Given the description of an element on the screen output the (x, y) to click on. 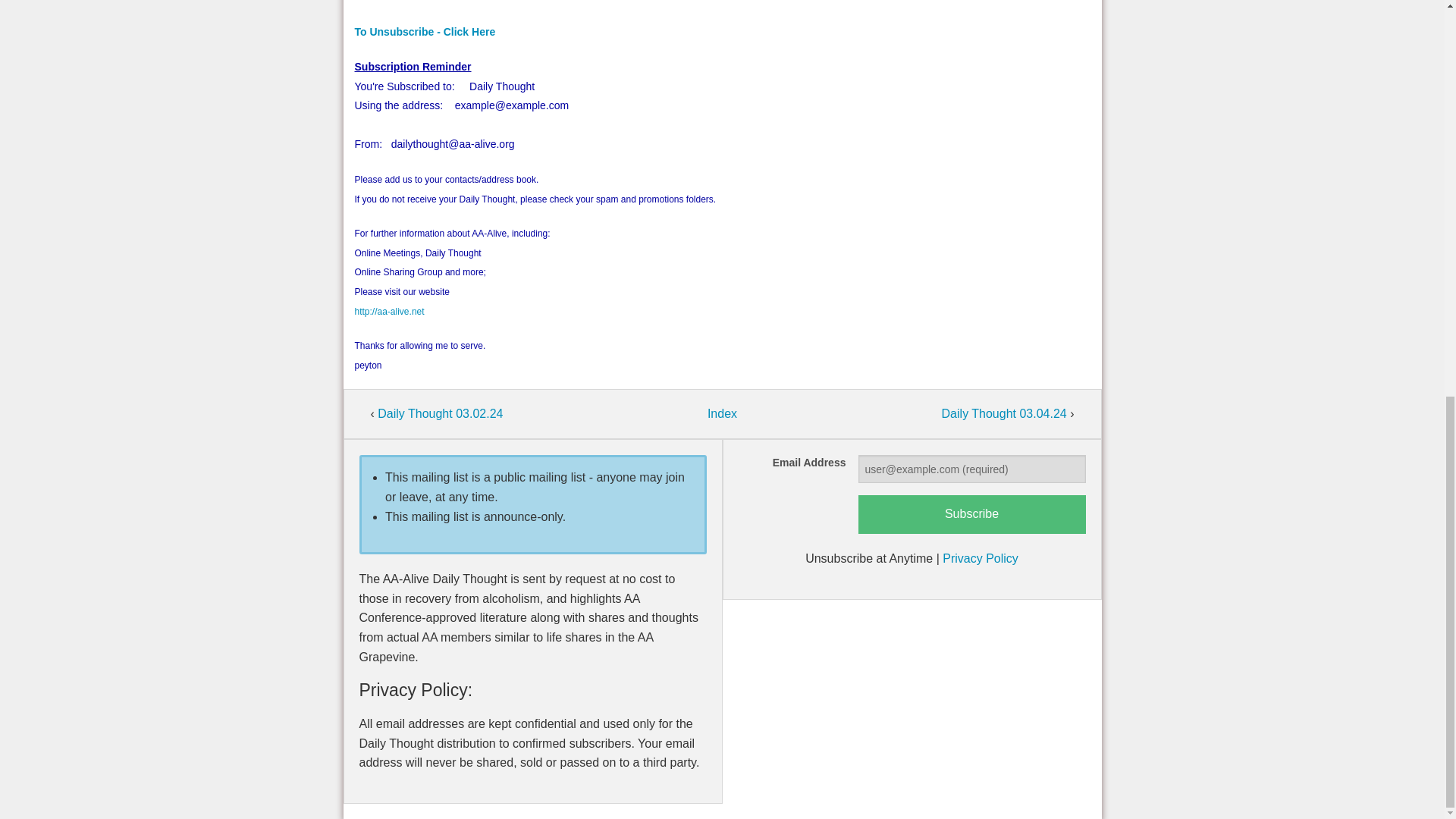
Daily Thought 03.04.24 (1006, 413)
Index (721, 413)
Daily Thought 03.02.24 (439, 413)
Subscribe (972, 514)
Privacy Policy (979, 558)
Subscribe (972, 514)
To Unsubscribe - Click Here (425, 31)
